Given the description of an element on the screen output the (x, y) to click on. 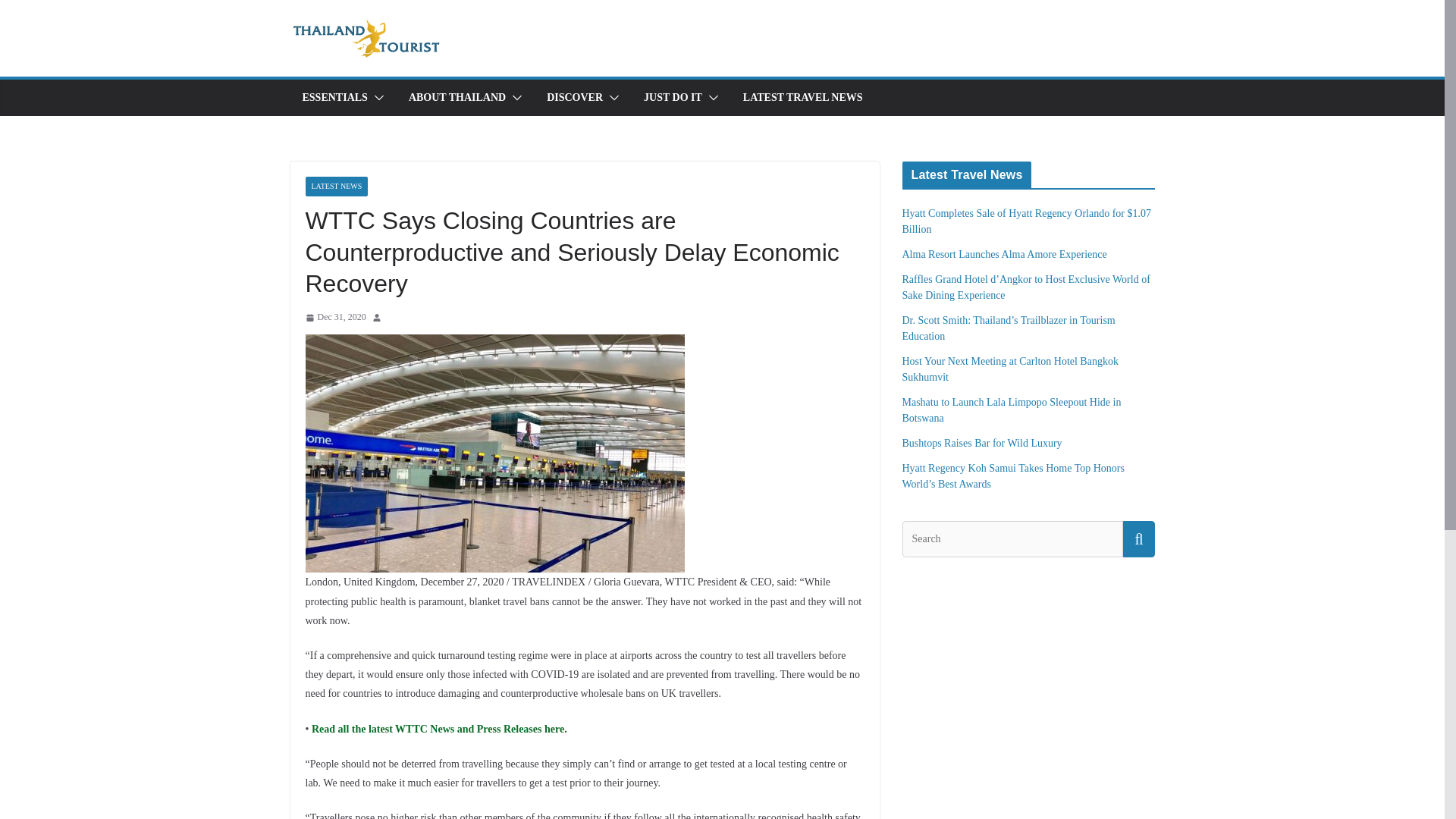
2:41 am (334, 317)
ESSENTIALS (333, 97)
ABOUT THAILAND (457, 97)
